Given the description of an element on the screen output the (x, y) to click on. 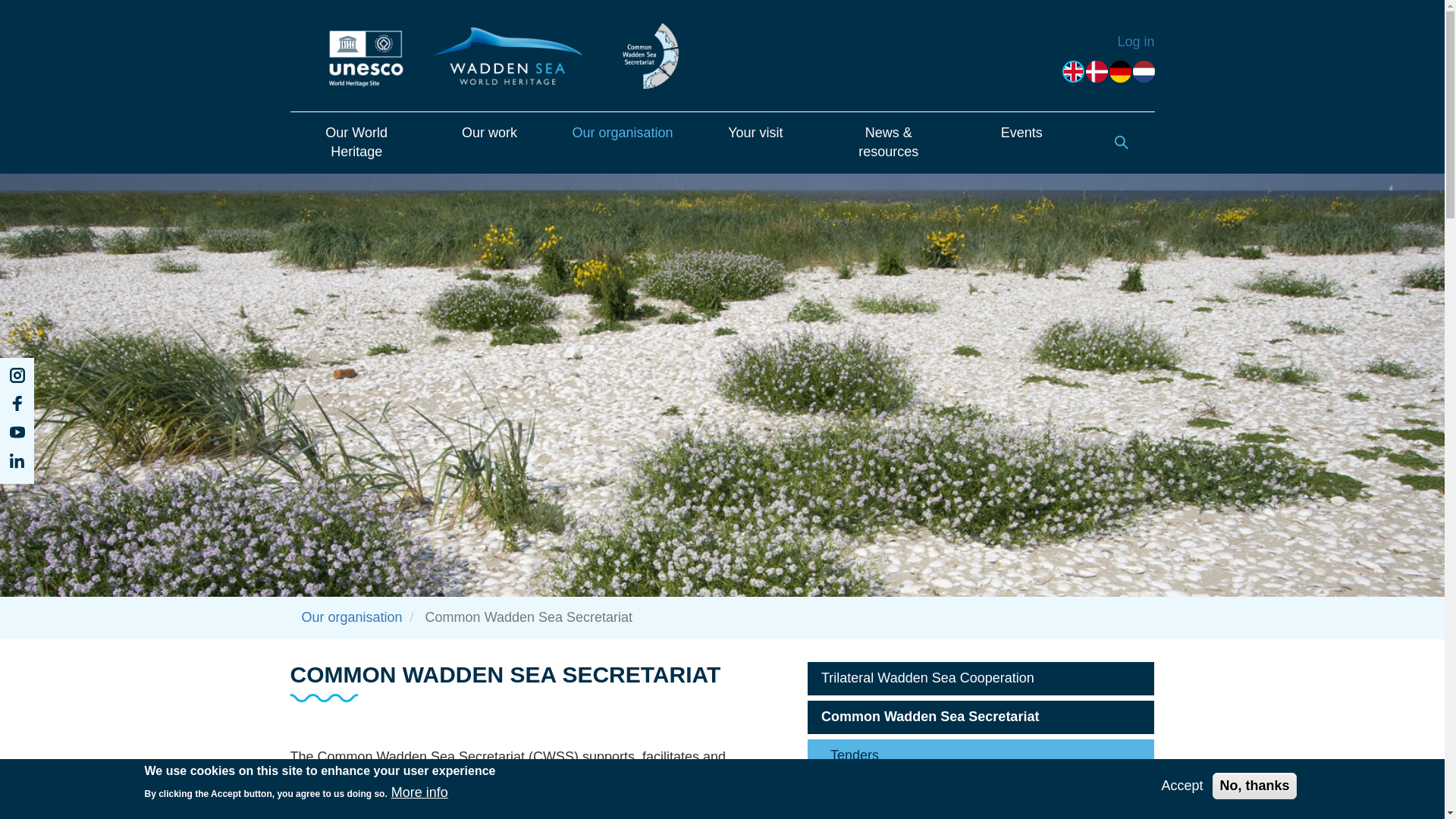
Events (1021, 142)
Deutsch (1120, 71)
English (1073, 71)
Danish (1097, 71)
Our World Heritage (355, 142)
Our organisation (622, 142)
Your visit (755, 142)
Our organisation (352, 616)
Our work (489, 142)
Dutch (1143, 71)
Search (1120, 142)
Log in (1135, 41)
